Given the description of an element on the screen output the (x, y) to click on. 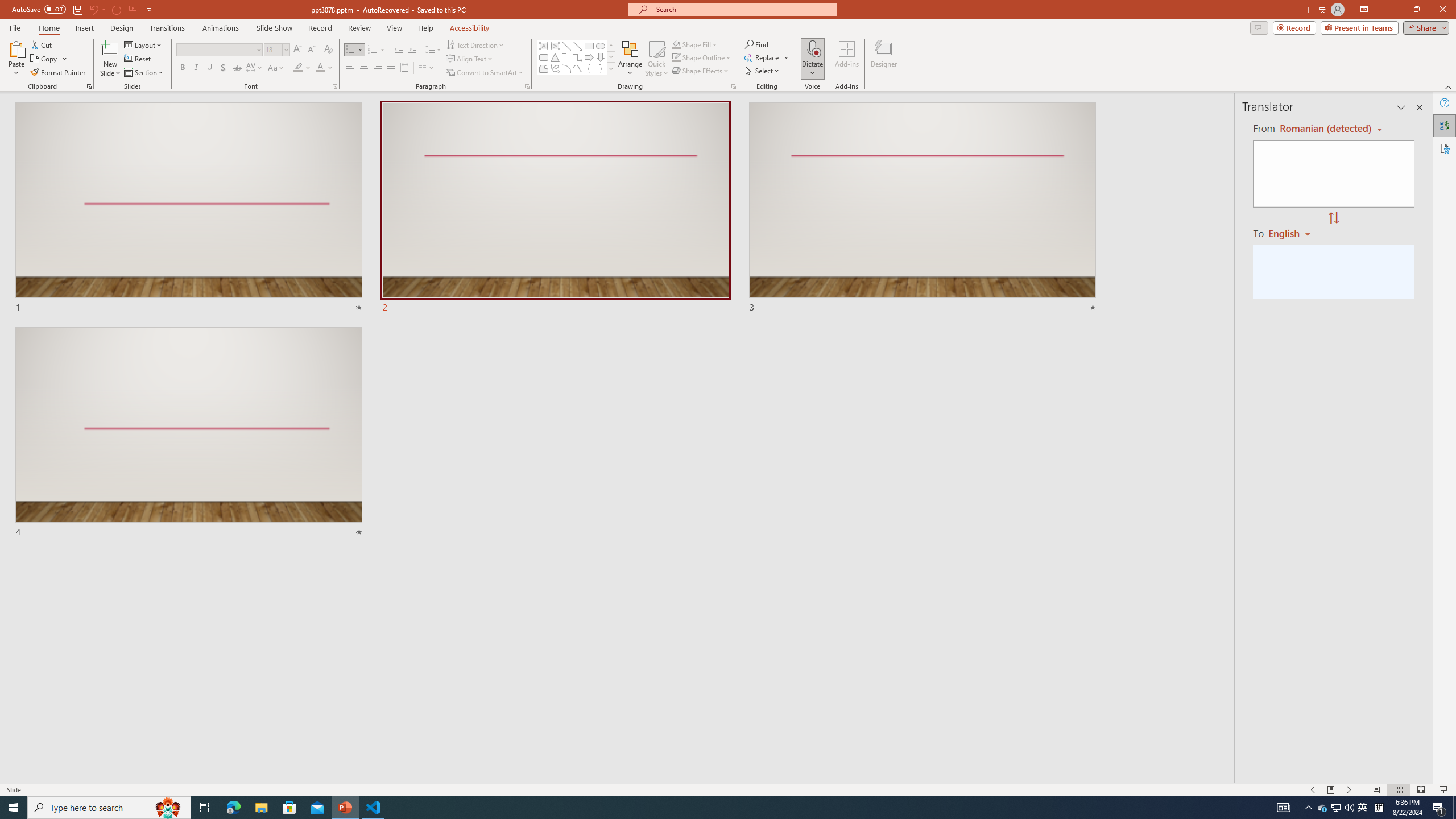
Line (566, 45)
Decrease Indent (398, 49)
Slide Show (1444, 790)
Font Size (276, 49)
Ribbon Display Options (1364, 9)
System (6, 6)
Close (1442, 9)
Open (285, 49)
Slide Show Previous On (1313, 790)
Paragraph... (526, 85)
Center (363, 67)
Font... (334, 85)
Curve (577, 68)
Romanian (1293, 232)
